Given the description of an element on the screen output the (x, y) to click on. 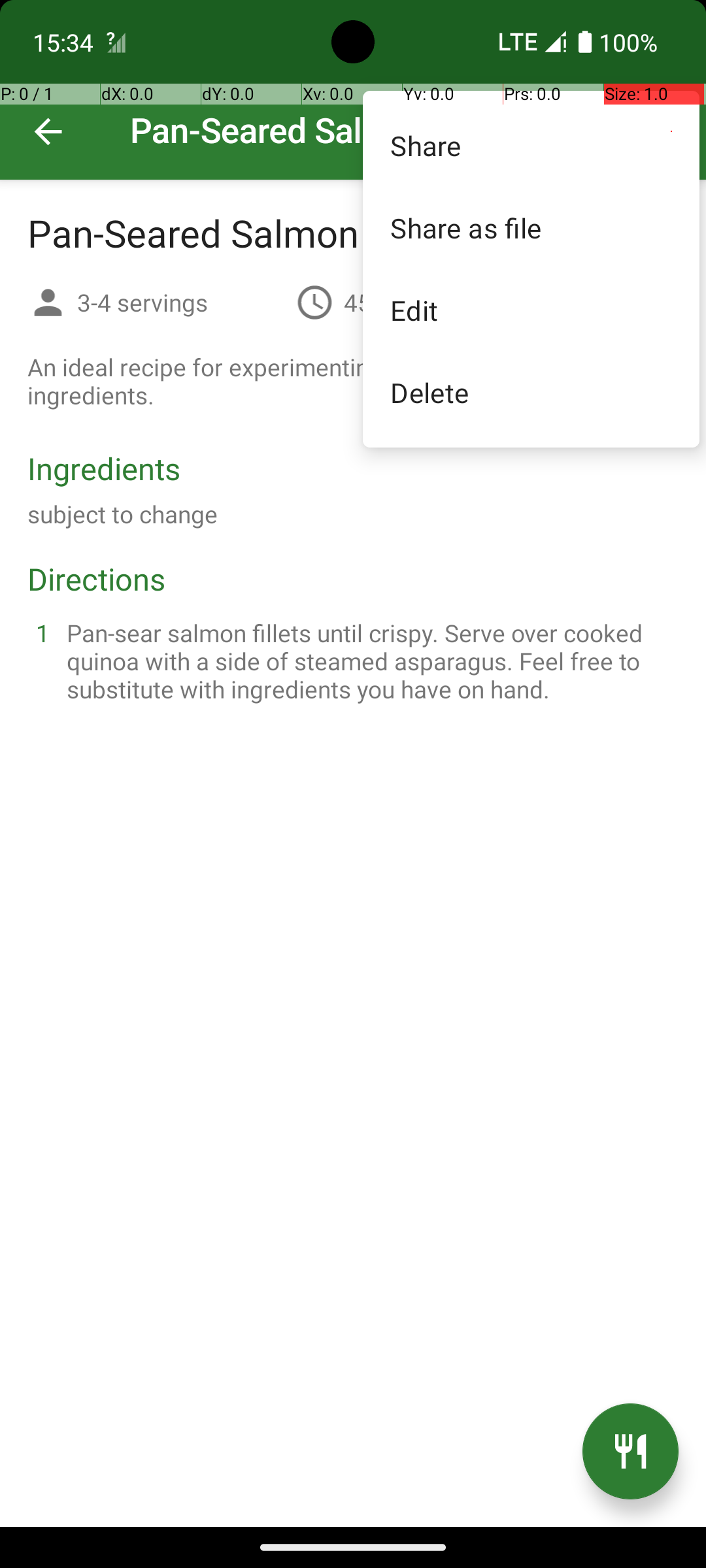
Share as file Element type: android.widget.TextView (531, 227)
